Given the description of an element on the screen output the (x, y) to click on. 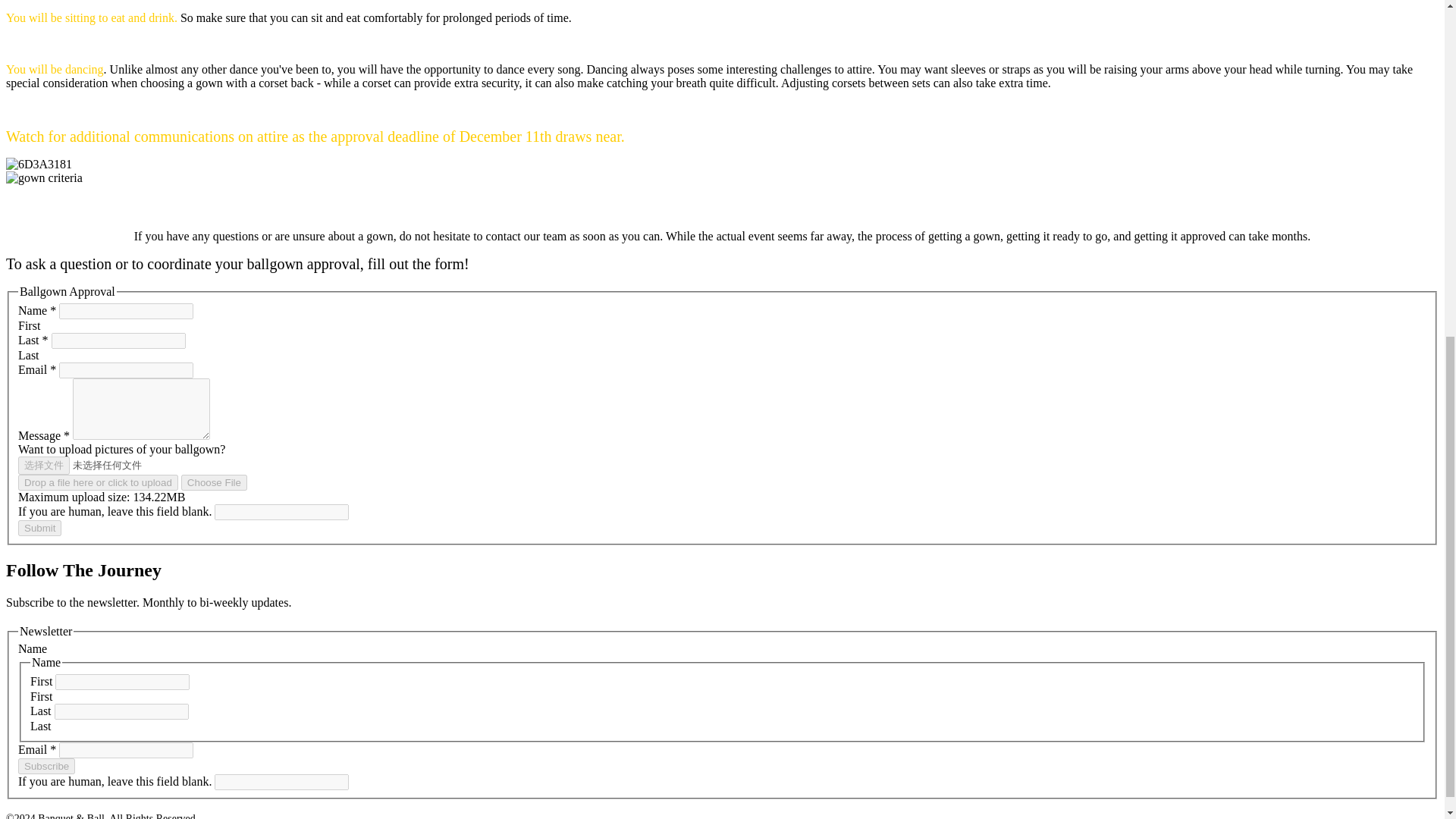
Drop a file here or click to upload (97, 482)
Subscribe (46, 765)
Submit (39, 528)
Choose File (213, 482)
gown criteria (43, 178)
6D3A3181 (38, 164)
